Given the description of an element on the screen output the (x, y) to click on. 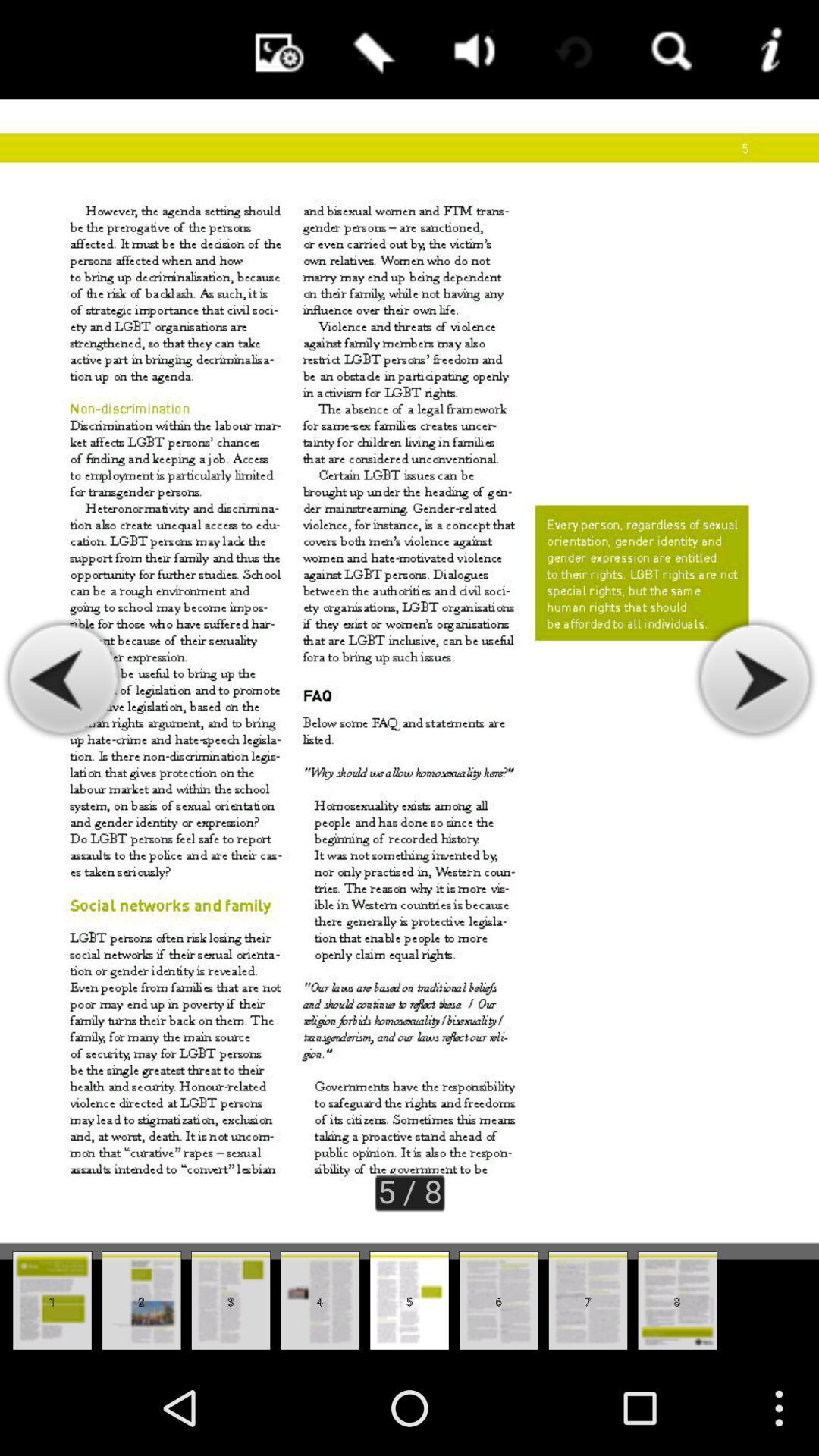
search (669, 49)
